Given the description of an element on the screen output the (x, y) to click on. 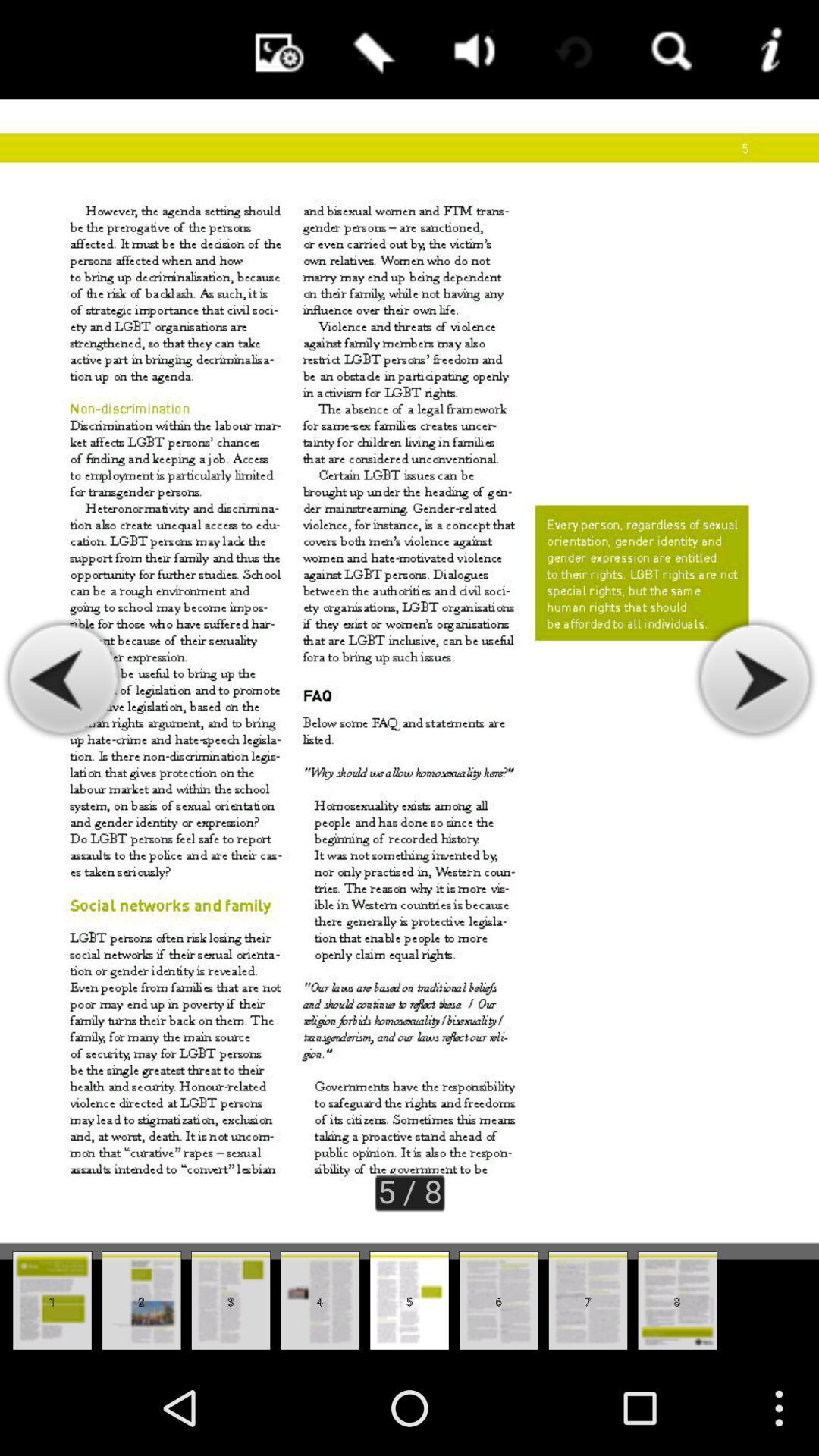
search (669, 49)
